Given the description of an element on the screen output the (x, y) to click on. 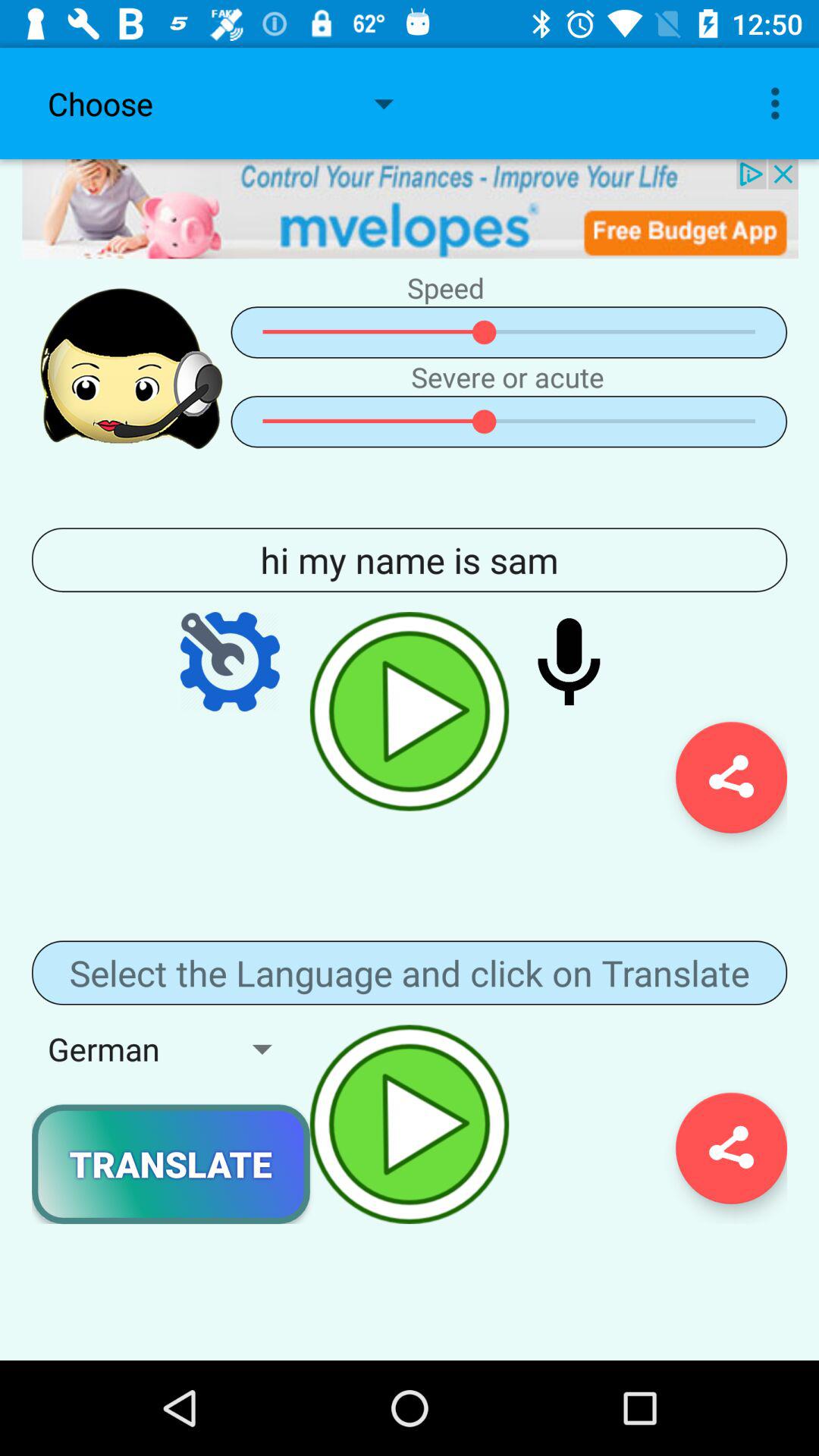
record (568, 661)
